Given the description of an element on the screen output the (x, y) to click on. 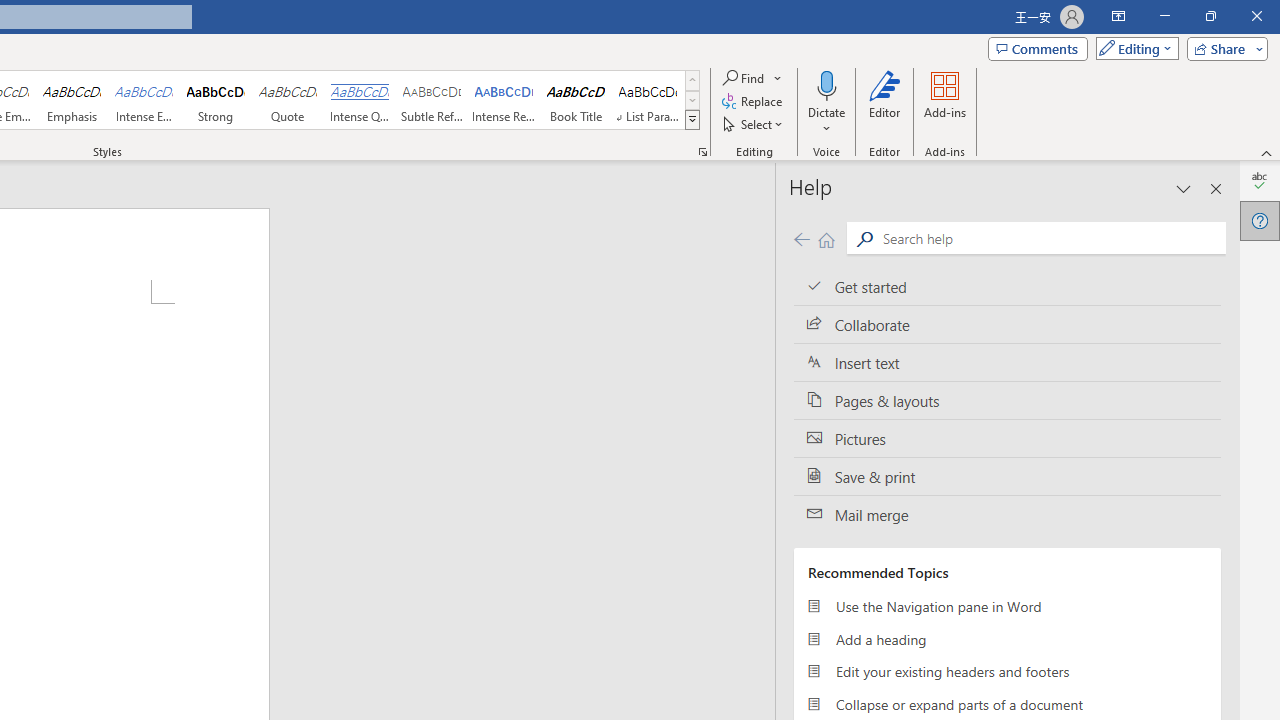
Edit your existing headers and footers (1007, 672)
Pictures (1007, 438)
Intense Emphasis (143, 100)
Collaborate (1007, 325)
Intense Reference (504, 100)
